Given the description of an element on the screen output the (x, y) to click on. 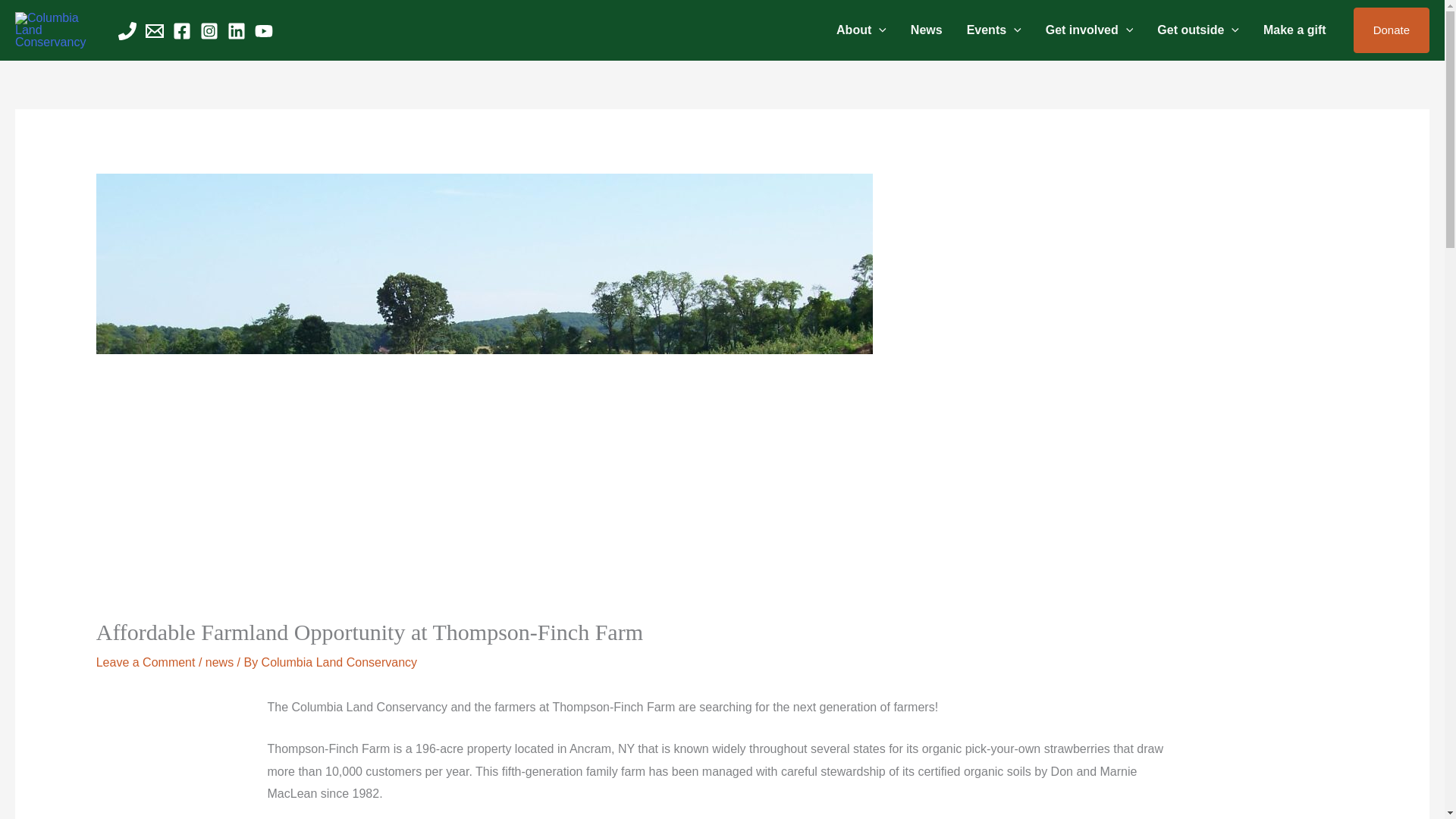
Get involved (1089, 29)
About (861, 29)
Get outside (1197, 29)
Donate (1391, 30)
View all posts by Columbia Land Conservancy (339, 662)
News (926, 29)
Make a gift (1294, 29)
Events (994, 29)
